Given the description of an element on the screen output the (x, y) to click on. 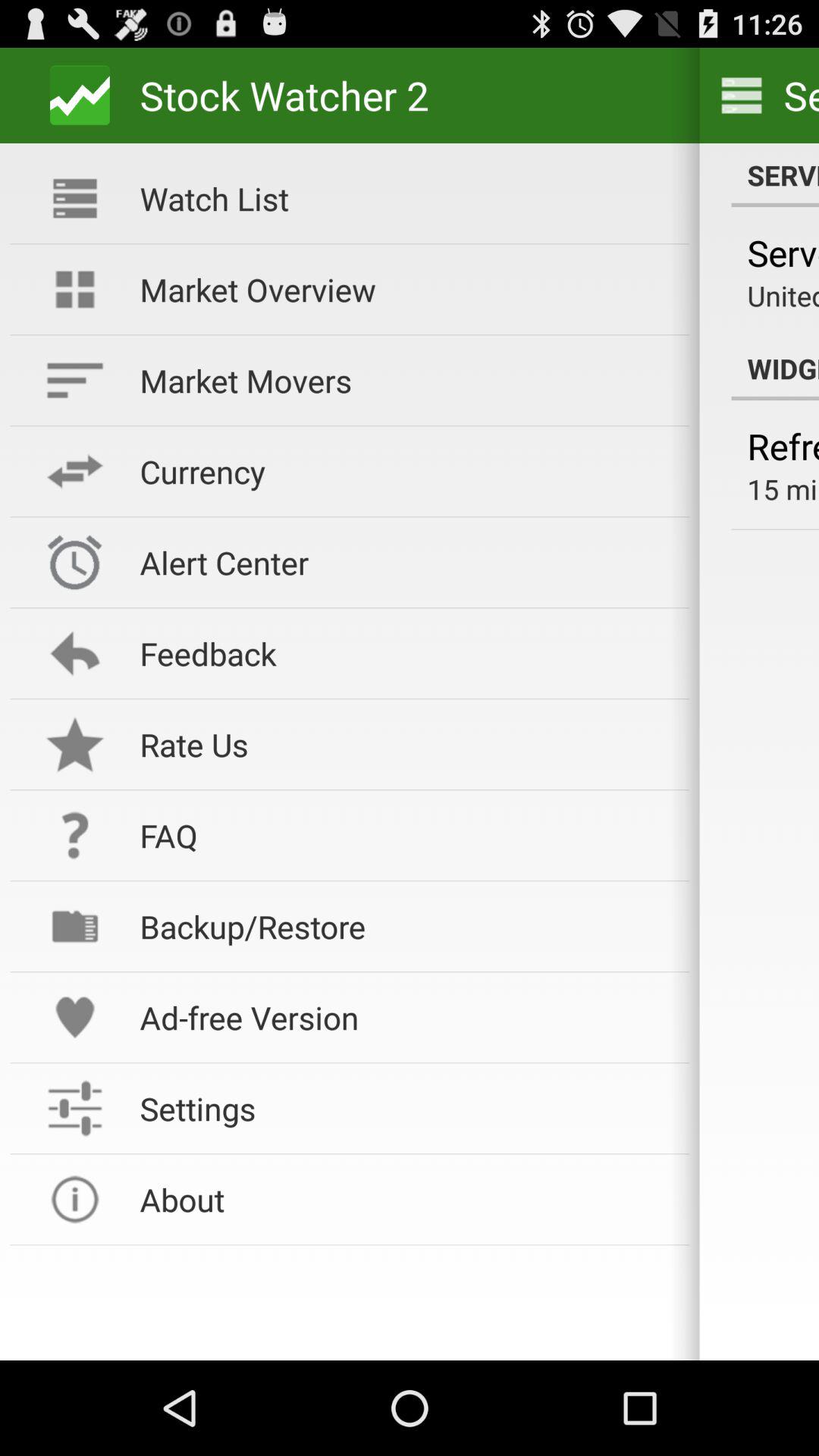
press the about item (404, 1199)
